Given the description of an element on the screen output the (x, y) to click on. 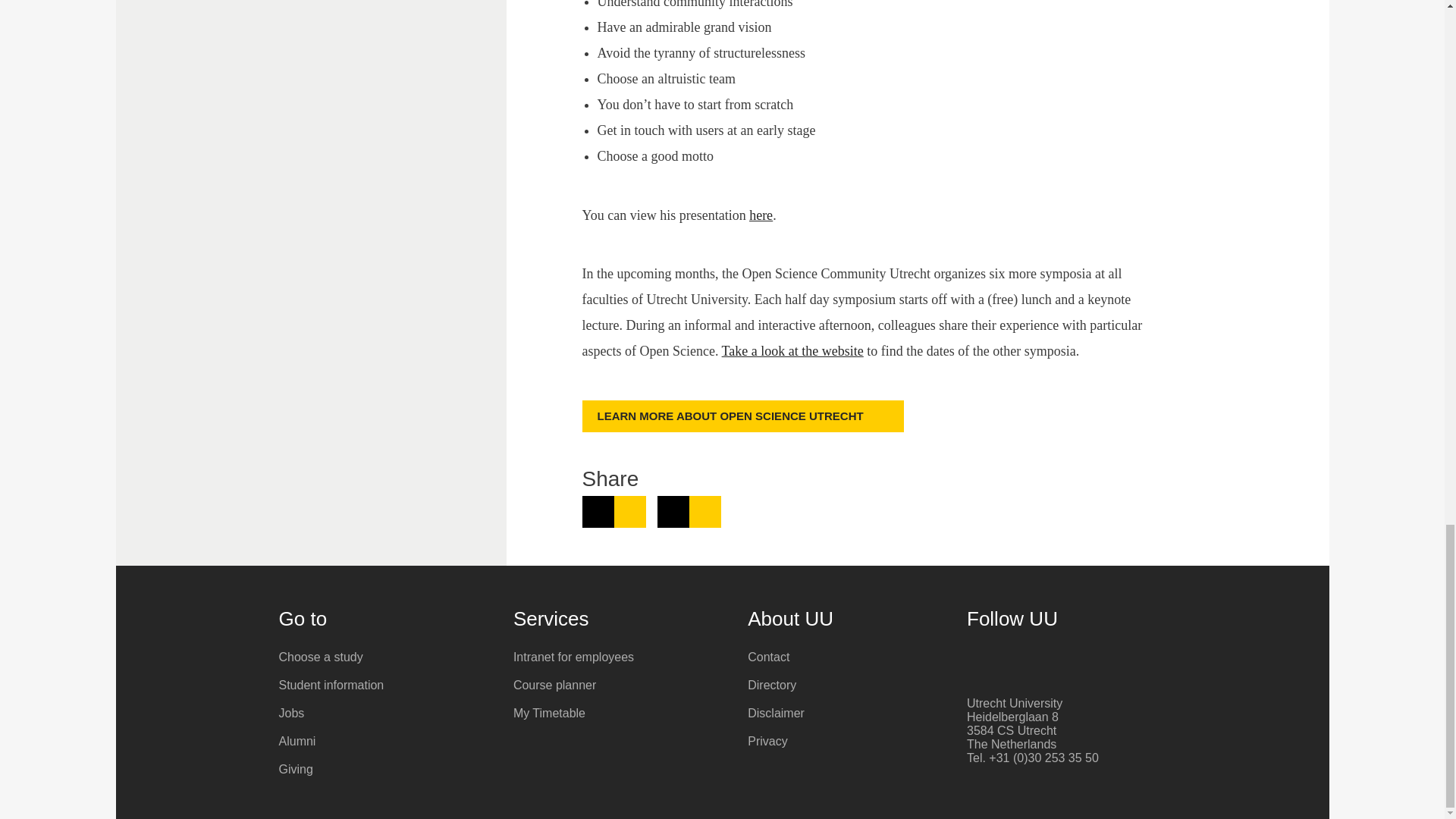
Share on LinkedIn (614, 511)
Share on Facebook (688, 511)
